Given the description of an element on the screen output the (x, y) to click on. 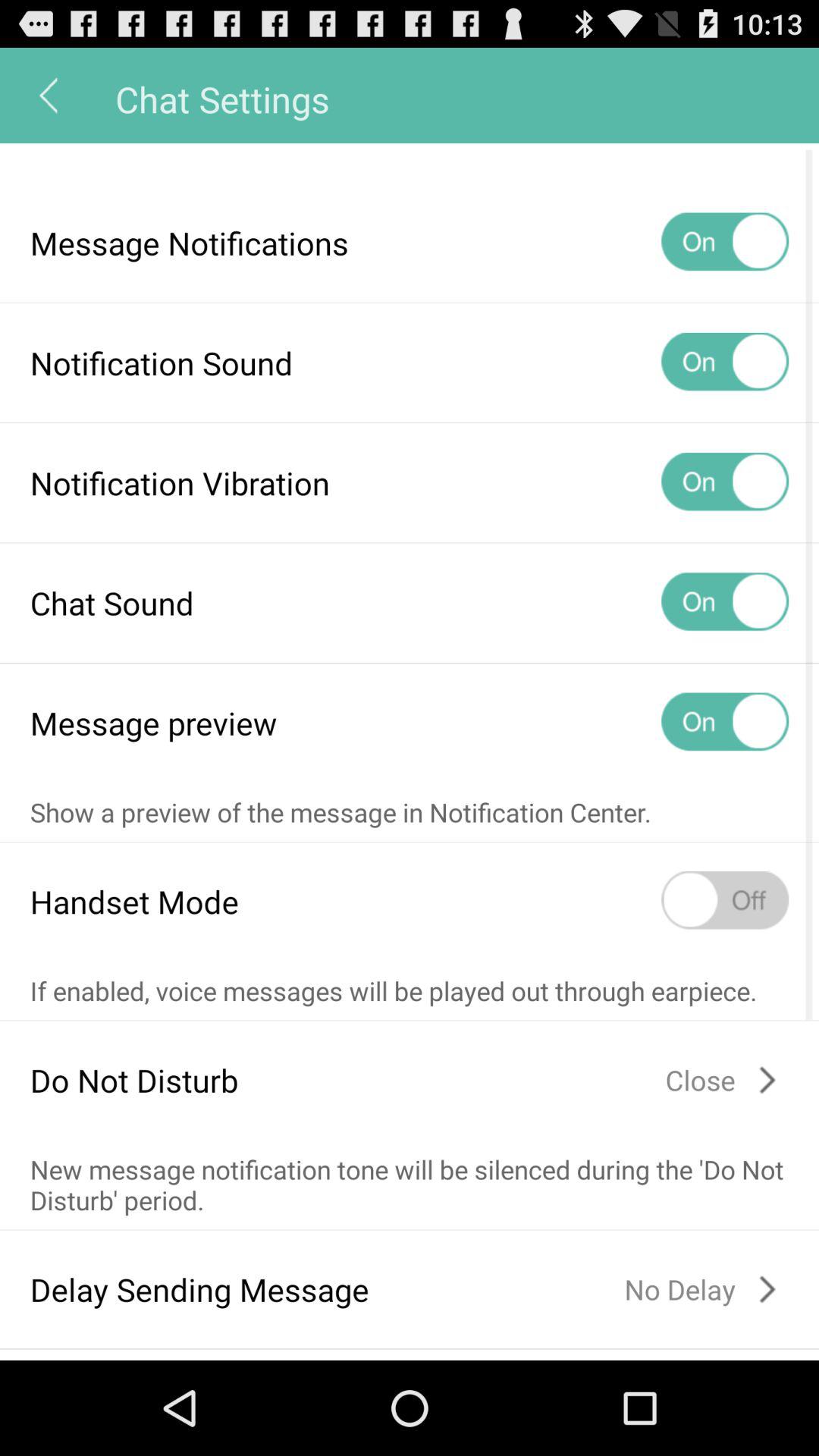
go to toggle button beside message preview (724, 722)
select the icon on right side of text notification vibration (724, 482)
click on the on button which is right to the text notification sound (724, 363)
